Given the description of an element on the screen output the (x, y) to click on. 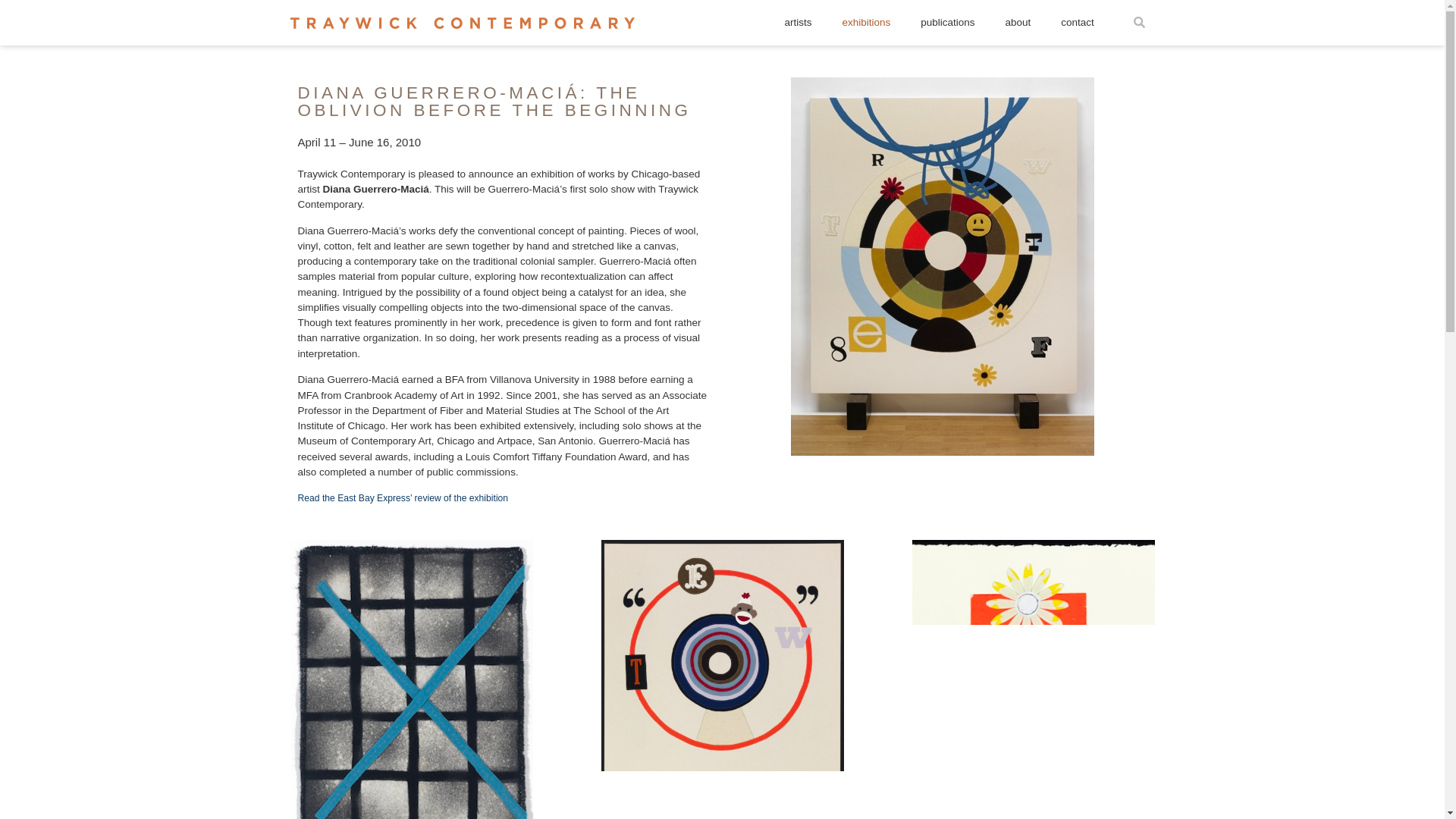
about (1018, 22)
artists (797, 22)
publications (947, 22)
exhibitions (866, 22)
contact (1077, 22)
